Given the description of an element on the screen output the (x, y) to click on. 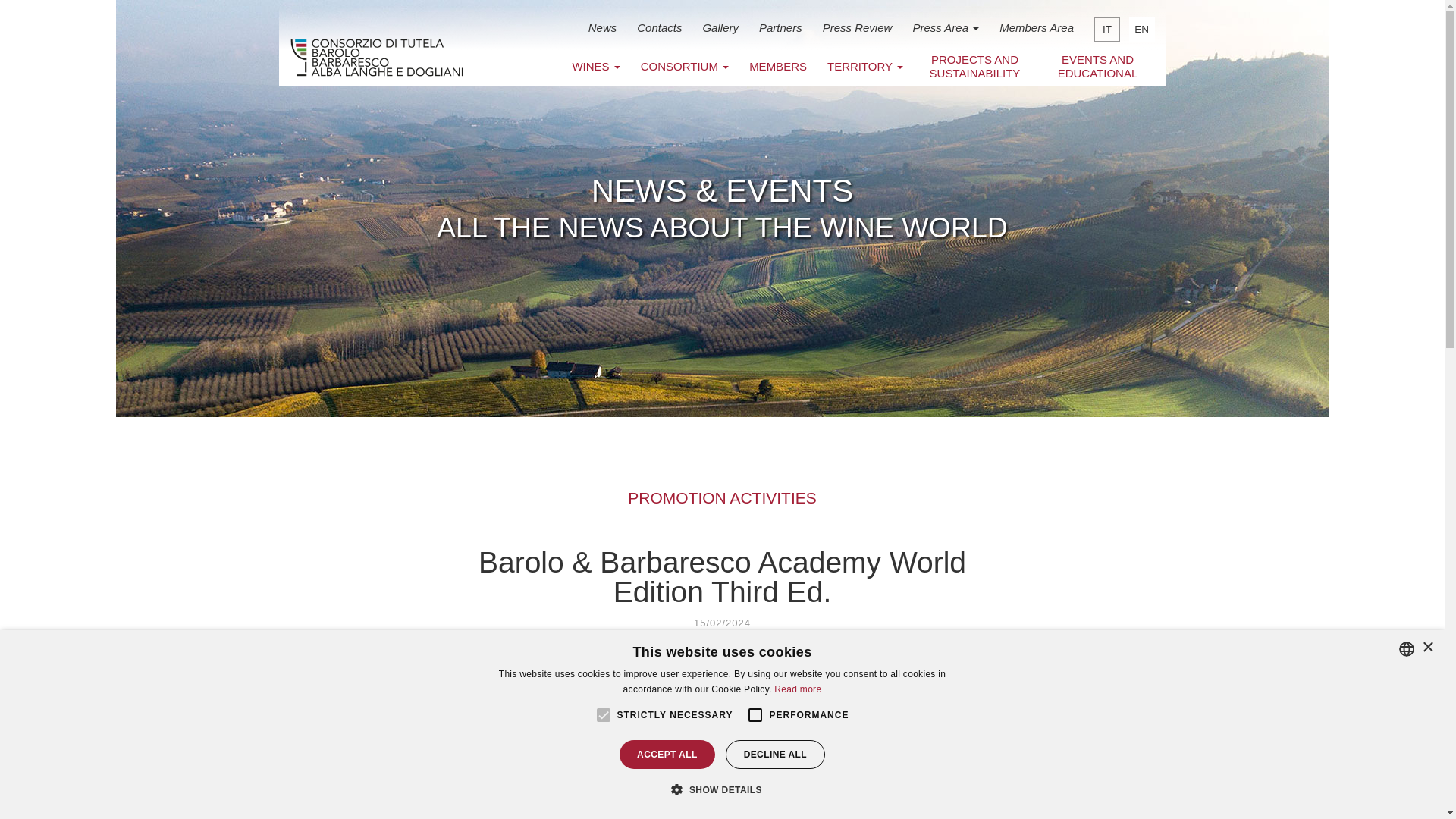
En (1141, 28)
Press Review (857, 26)
PROJECTS AND SUSTAINABILITY (974, 66)
Consorzio di Tutela Barolo Barbaresco Alba Langhe e Dogliani (376, 56)
CONSORTIUM (684, 65)
MEMBERS (777, 65)
Contacts (659, 26)
IT (1106, 28)
News (602, 26)
Press Area (945, 26)
